Given the description of an element on the screen output the (x, y) to click on. 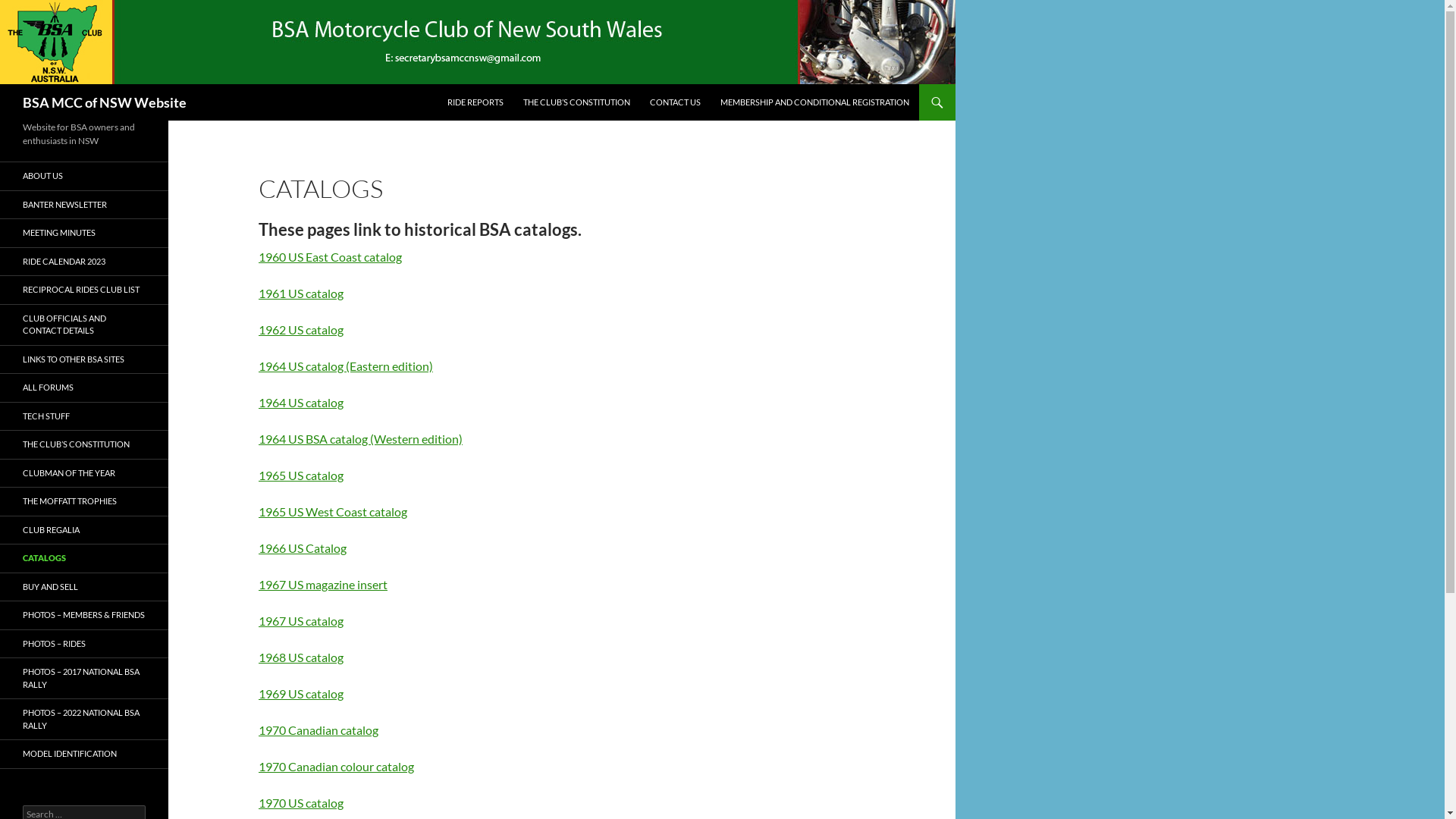
THE MOFFATT TROPHIES Element type: text (84, 501)
CLUB REGALIA Element type: text (84, 529)
MEETING MINUTES Element type: text (84, 233)
SKIP TO CONTENT Element type: text (446, 83)
1964 US catalog Element type: text (300, 402)
1967 US magazine insert Element type: text (322, 584)
1964 US BSA catalog (Western edition) Element type: text (360, 438)
1969 US catalog Element type: text (300, 693)
ABOUT US Element type: text (84, 176)
MODEL IDENTIFICATION Element type: text (84, 754)
CATALOGS Element type: text (84, 558)
1962 US catalog Element type: text (300, 329)
RECIPROCAL RIDES CLUB LIST Element type: text (84, 290)
CLUBMAN OF THE YEAR Element type: text (84, 473)
1970 US catalog Element type: text (300, 802)
Search Element type: text (29, 9)
1965 US West Coast catalog Element type: text (332, 511)
ALL FORUMS Element type: text (84, 387)
BSA MCC of NSW Website Element type: text (104, 102)
RIDE CALENDAR 2023 Element type: text (84, 261)
1967 US catalog Element type: text (300, 620)
TECH STUFF Element type: text (84, 415)
1961 US catalog Element type: text (300, 292)
Search Element type: text (3, 83)
1960 US East Coast catalog Element type: text (329, 256)
BANTER NEWSLETTER Element type: text (84, 205)
CONTACT US Element type: text (674, 102)
BUY AND SELL Element type: text (84, 587)
1968 US catalog Element type: text (300, 656)
CLUB OFFICIALS AND CONTACT DETAILS Element type: text (84, 324)
1965 US catalog Element type: text (300, 474)
1966 US Catalog Element type: text (302, 547)
MEMBERSHIP AND CONDITIONAL REGISTRATION Element type: text (814, 102)
1964 US catalog (Eastern edition) Element type: text (345, 365)
RIDE REPORTS Element type: text (475, 102)
1970 Canadian catalog Element type: text (318, 729)
1970 Canadian colour catalog Element type: text (336, 766)
LINKS TO OTHER BSA SITES Element type: text (84, 359)
